Given the description of an element on the screen output the (x, y) to click on. 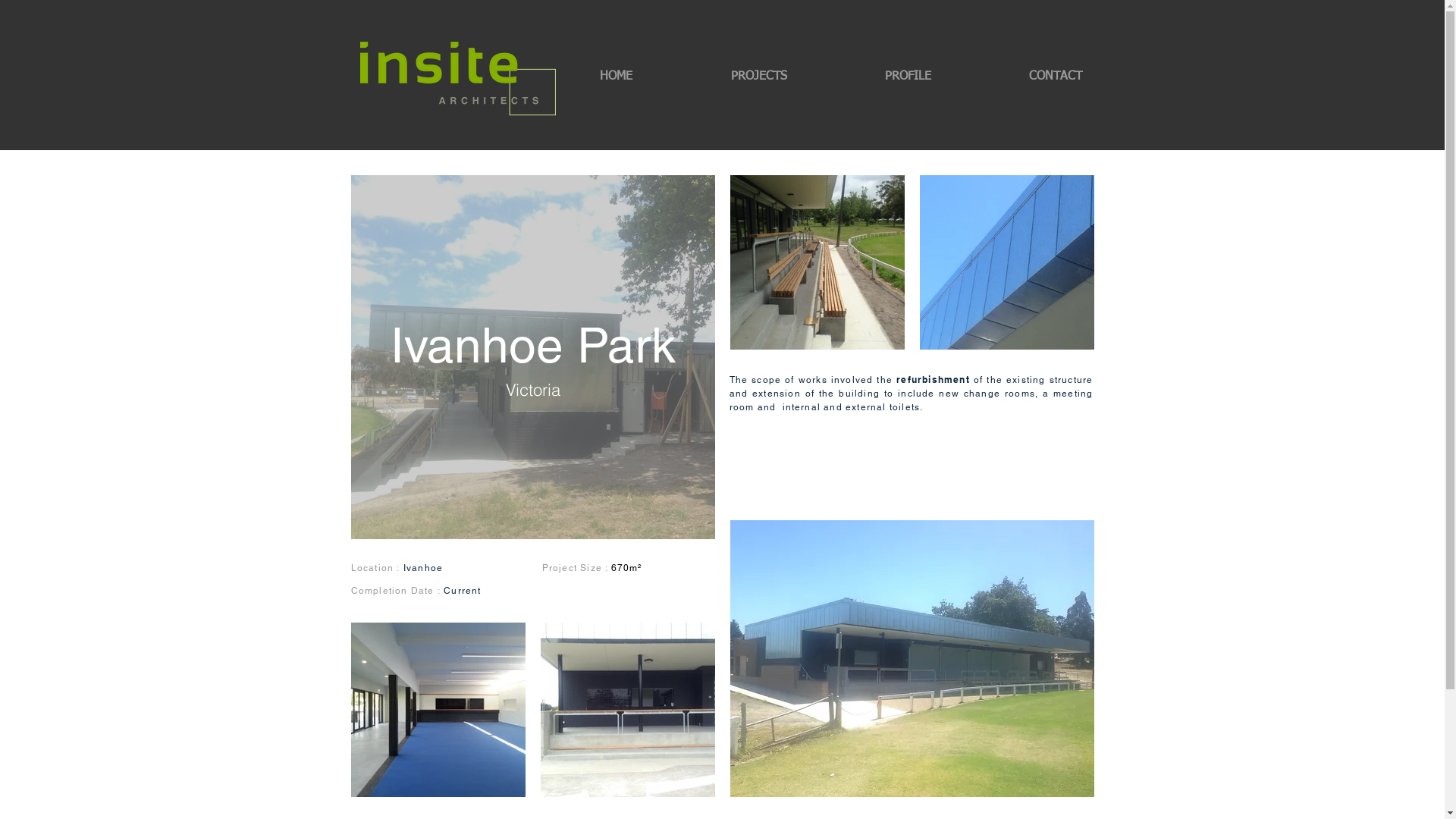
insite-architects-LOGO-WHITE-rgb.png Element type: hover (457, 79)
CONTACT Element type: text (1054, 76)
HOME Element type: text (615, 76)
PROJECTS Element type: text (757, 76)
